Given the description of an element on the screen output the (x, y) to click on. 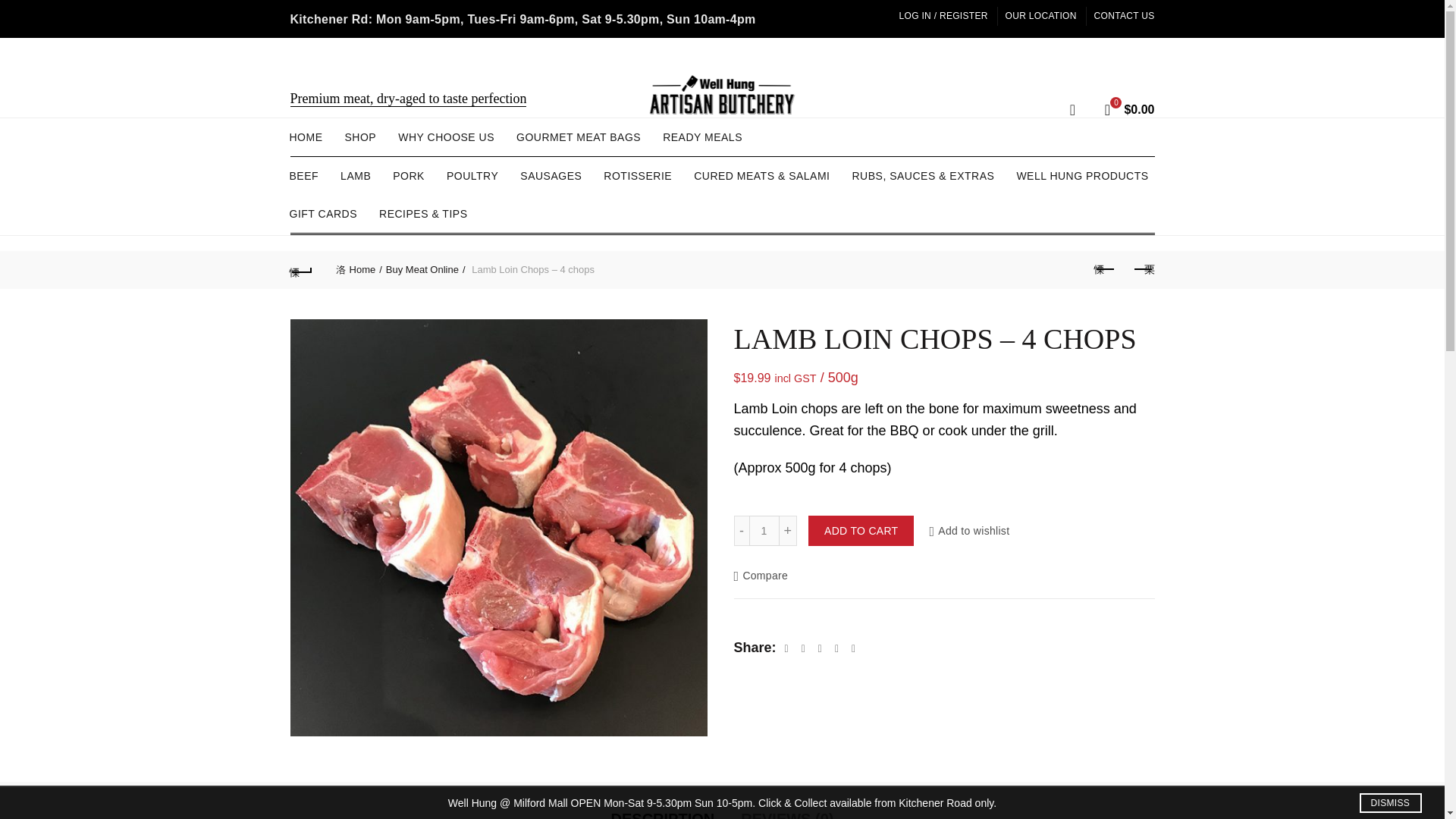
READY MEALS (702, 136)
WHY CHOOSE US (445, 136)
BEEF (304, 175)
POULTRY (472, 175)
HOME (305, 136)
CONTACT US (1124, 15)
Search (1048, 151)
LAMB (355, 175)
GOURMET MEAT BAGS (578, 136)
SHOP (360, 136)
PORK (407, 175)
SAUSAGES (551, 175)
WELL HUNG PRODUCTS (1081, 175)
1 (763, 530)
